Given the description of an element on the screen output the (x, y) to click on. 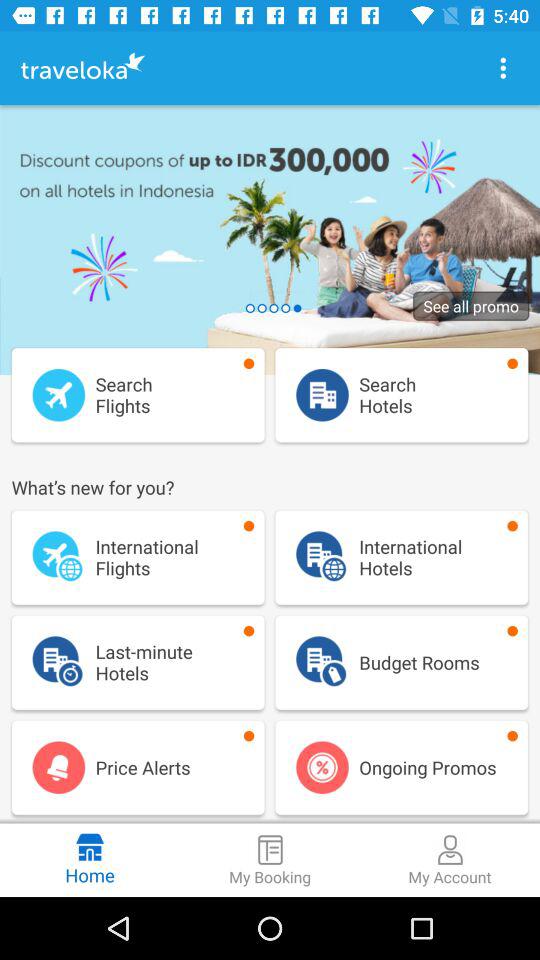
menu (503, 68)
